Given the description of an element on the screen output the (x, y) to click on. 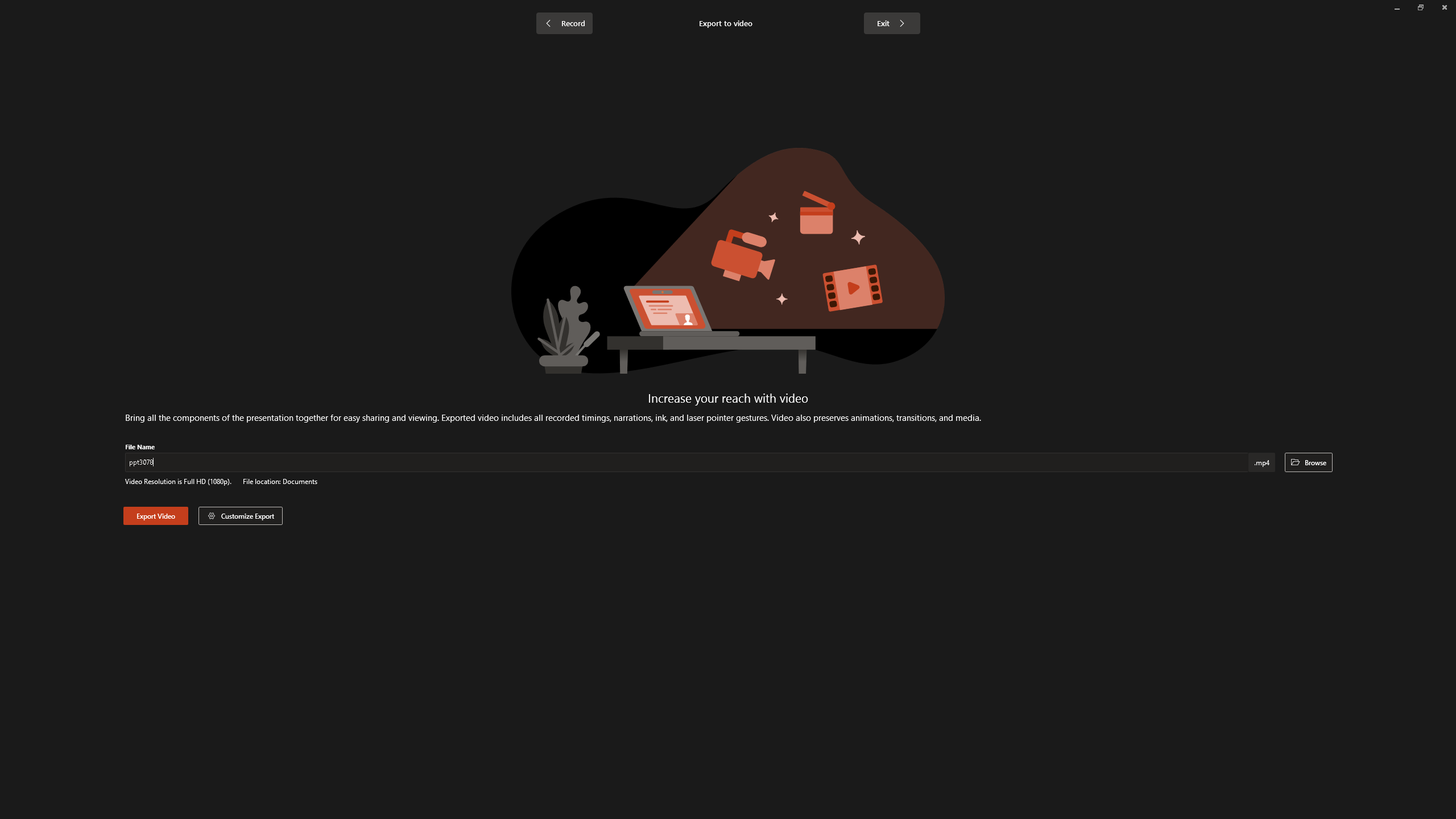
Reset to Cameo (269, 58)
Zoom 59% (1431, 790)
